Given the description of an element on the screen output the (x, y) to click on. 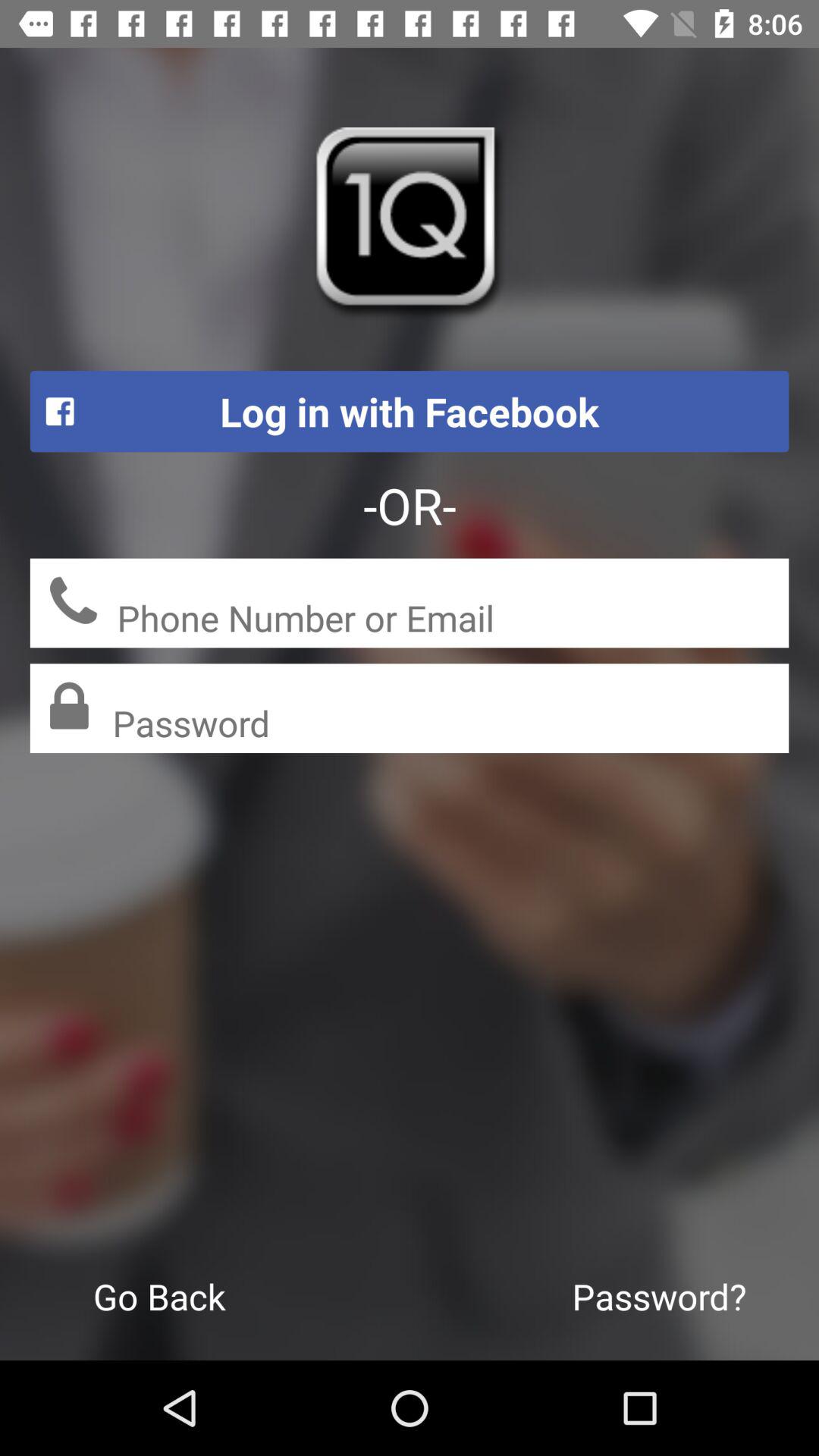
turn on the icon next to the password? item (159, 1296)
